Given the description of an element on the screen output the (x, y) to click on. 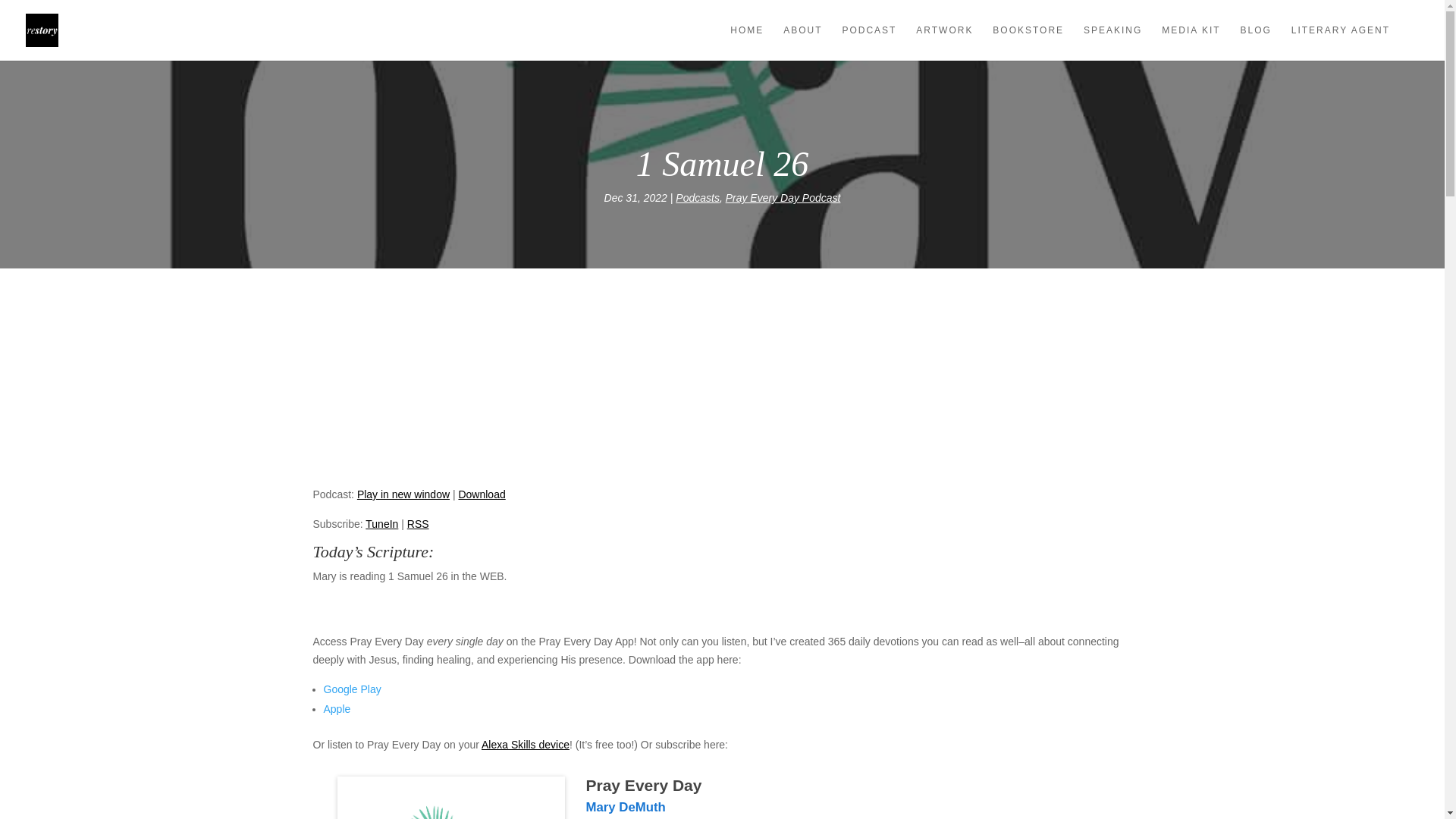
Alexa Skills device (525, 744)
BLOG (1255, 42)
Subscribe on TuneIn (381, 523)
BOOKSTORE (1028, 42)
Pray Every Day Podcast (783, 197)
RSS (418, 523)
PODCAST (868, 42)
Apple (336, 708)
Subscribe via RSS (418, 523)
ABOUT (802, 42)
Pray Every Day (450, 797)
Download (481, 494)
Play in new window (402, 494)
Google Play (351, 689)
ARTWORK (943, 42)
